Given the description of an element on the screen output the (x, y) to click on. 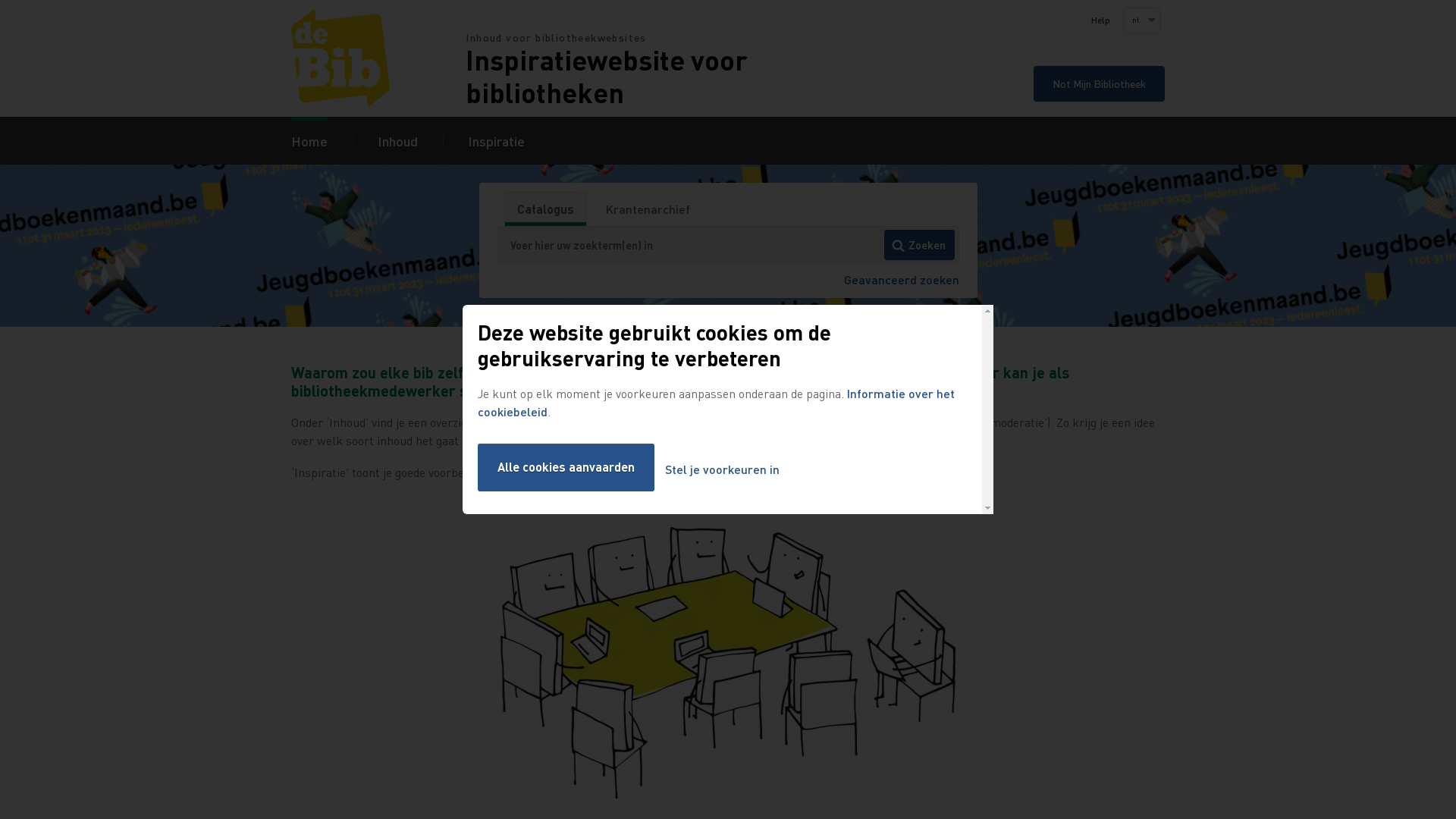
Informatie over het cookiebeleid Element type: text (715, 402)
nl Element type: text (1140, 20)
Inspiratie Element type: text (495, 140)
Geavanceerd zoeken Element type: text (900, 279)
Openingsuren opzoeken Element type: text (856, 326)
Home Element type: hover (378, 57)
Help Element type: text (1100, 20)
Overslaan en naar zoeken gaan Element type: text (0, 0)
Zoeken Element type: text (919, 244)
co-working Element type: hover (727, 662)
Catalogus Element type: text (544, 208)
Krantenarchief Element type: text (647, 208)
Home Element type: text (309, 140)
Not Mijn Bibliotheek Element type: text (1098, 83)
Alle cookies aanvaarden Element type: text (565, 466)
Uitleentermijn verlengen Element type: text (603, 326)
Inhoud Element type: text (397, 140)
Stel je voorkeuren in Element type: text (722, 469)
